Given the description of an element on the screen output the (x, y) to click on. 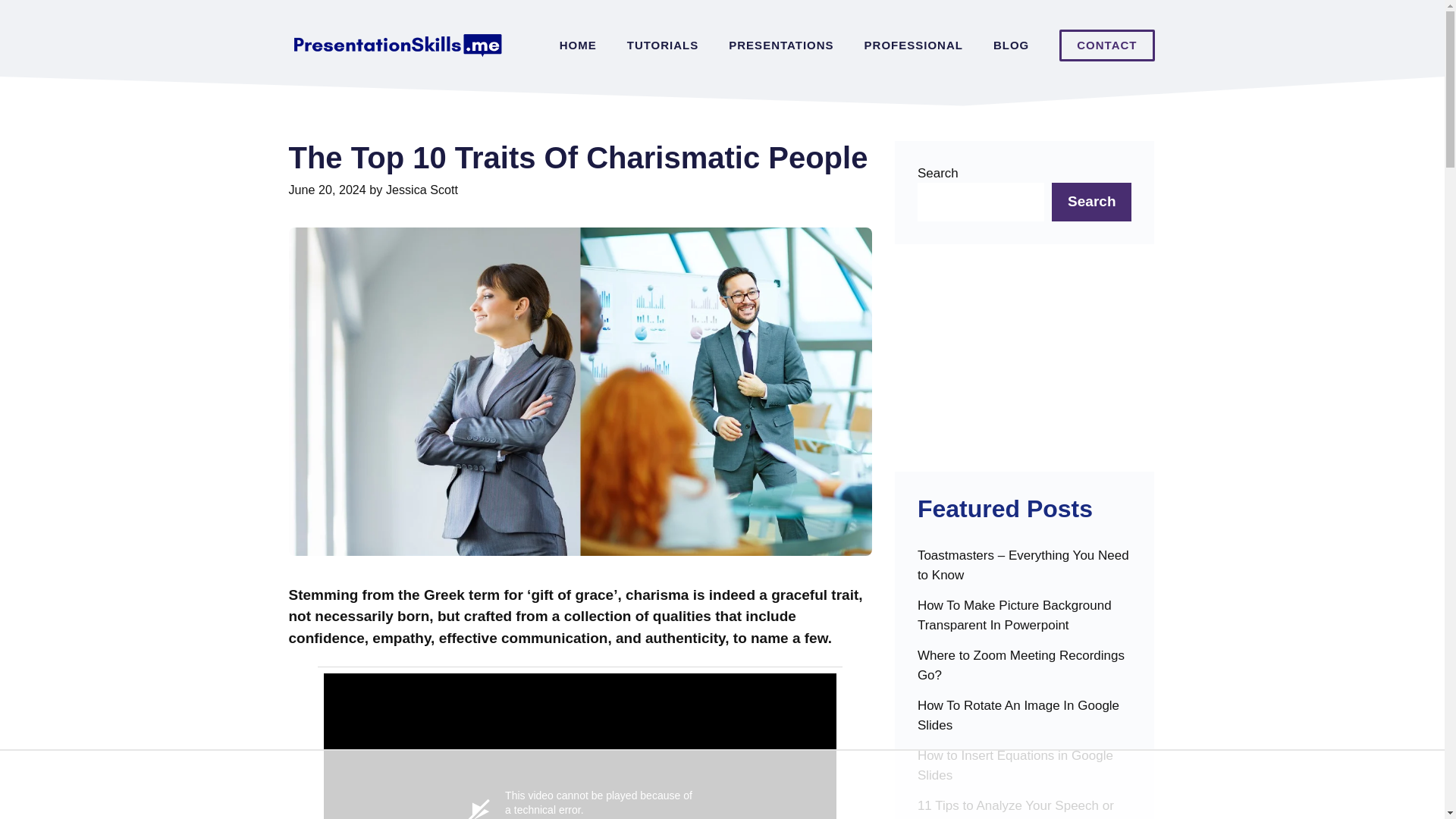
Jessica Scott (421, 189)
How to Insert Equations in Google Slides (1024, 771)
PRESENTATIONS (780, 44)
TUTORIALS (662, 44)
11 Tips to Analyze Your Speech or Presentation (1024, 807)
View all posts by Jessica Scott (421, 189)
BLOG (1010, 44)
Search (1091, 201)
CONTACT (1106, 45)
PROFESSIONAL (913, 44)
Where to Zoom Meeting Recordings Go? (1024, 671)
HOME (577, 44)
How To Rotate An Image In Google Slides (1024, 721)
